Given the description of an element on the screen output the (x, y) to click on. 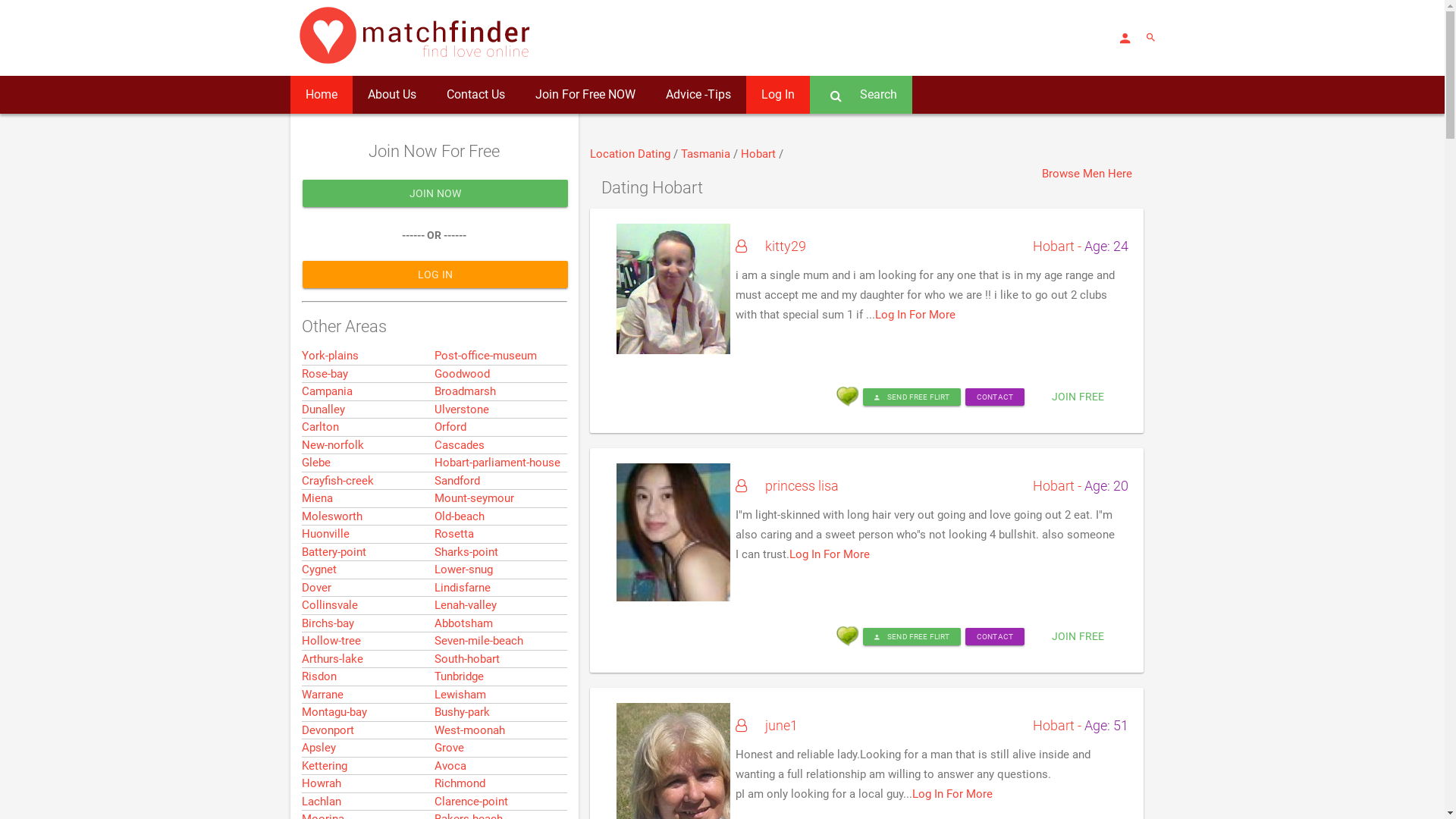
Sandford Element type: text (456, 480)
Broadmarsh Element type: text (464, 391)
CONTACT Element type: text (994, 636)
Seven-mile-beach Element type: text (477, 640)
Tunbridge Element type: text (458, 676)
Rose-bay Element type: text (324, 373)
Kettering Element type: text (324, 765)
Log In For More Element type: text (952, 793)
Tasmania Element type: text (706, 153)
Mount-seymour Element type: text (473, 498)
Lewisham Element type: text (459, 694)
Montagu-bay Element type: text (334, 711)
Advice -Tips Element type: text (698, 94)
Dating Element type: text (654, 153)
Ulverstone Element type: text (460, 409)
Lower-snug Element type: text (462, 569)
LOG IN Element type: text (434, 274)
june1 Element type: text (766, 725)
JOIN FREE Element type: text (1077, 395)
York-plains Element type: text (329, 355)
JOIN NOW Element type: text (434, 193)
Bushy-park Element type: text (461, 711)
Search Element type: text (860, 94)
West-moonah Element type: text (468, 730)
Howrah Element type: text (321, 783)
JOIN FREE Element type: text (1077, 635)
Cascades Element type: text (458, 444)
Molesworth Element type: text (331, 516)
Orford Element type: text (449, 426)
New-norfolk Element type: text (332, 444)
Abbotsham Element type: text (462, 623)
kitty29 Element type: text (770, 246)
South-hobart Element type: text (465, 658)
Carlton Element type: text (319, 426)
Cygnet Element type: text (318, 569)
Goodwood Element type: text (461, 373)
Collinsvale Element type: text (329, 604)
Location Element type: text (613, 153)
Post-office-museum Element type: text (484, 355)
Hobart-parliament-house Element type: text (496, 462)
Hollow-tree Element type: text (330, 640)
SEND FREE FLIRT Element type: text (911, 396)
Lenah-valley Element type: text (464, 604)
Clarence-point Element type: text (470, 801)
Dover Element type: text (316, 587)
Join For Free NOW Element type: text (585, 94)
JOIN FREE Element type: text (1077, 396)
JOIN FREE Element type: text (1077, 635)
Log In For More Element type: text (915, 314)
Hobart Element type: text (759, 153)
Lachlan Element type: text (321, 801)
Grove Element type: text (448, 747)
Battery-point Element type: text (333, 551)
Dunalley Element type: text (323, 409)
Contact Us Element type: text (474, 94)
Apsley Element type: text (318, 747)
Lindisfarne Element type: text (461, 587)
princess lisa Element type: text (786, 485)
Miena Element type: text (316, 498)
Devonport Element type: text (327, 730)
Richmond Element type: text (458, 783)
Browse Men Here Element type: text (1086, 173)
Arthurs-lake Element type: text (332, 658)
SEND FREE FLIRT Element type: text (911, 636)
Log In Element type: text (777, 94)
Campania Element type: text (326, 391)
Warrane Element type: text (322, 694)
Risdon Element type: text (318, 676)
Glebe Element type: text (315, 462)
Old-beach Element type: text (458, 516)
Huonville Element type: text (325, 533)
Log In For More Element type: text (829, 554)
Sharks-point Element type: text (465, 551)
About Us Element type: text (390, 94)
Crayfish-creek Element type: text (337, 480)
Birchs-bay Element type: text (327, 623)
CONTACT Element type: text (994, 396)
Home Element type: text (320, 94)
Rosetta Element type: text (453, 533)
Avoca Element type: text (449, 765)
